Given the description of an element on the screen output the (x, y) to click on. 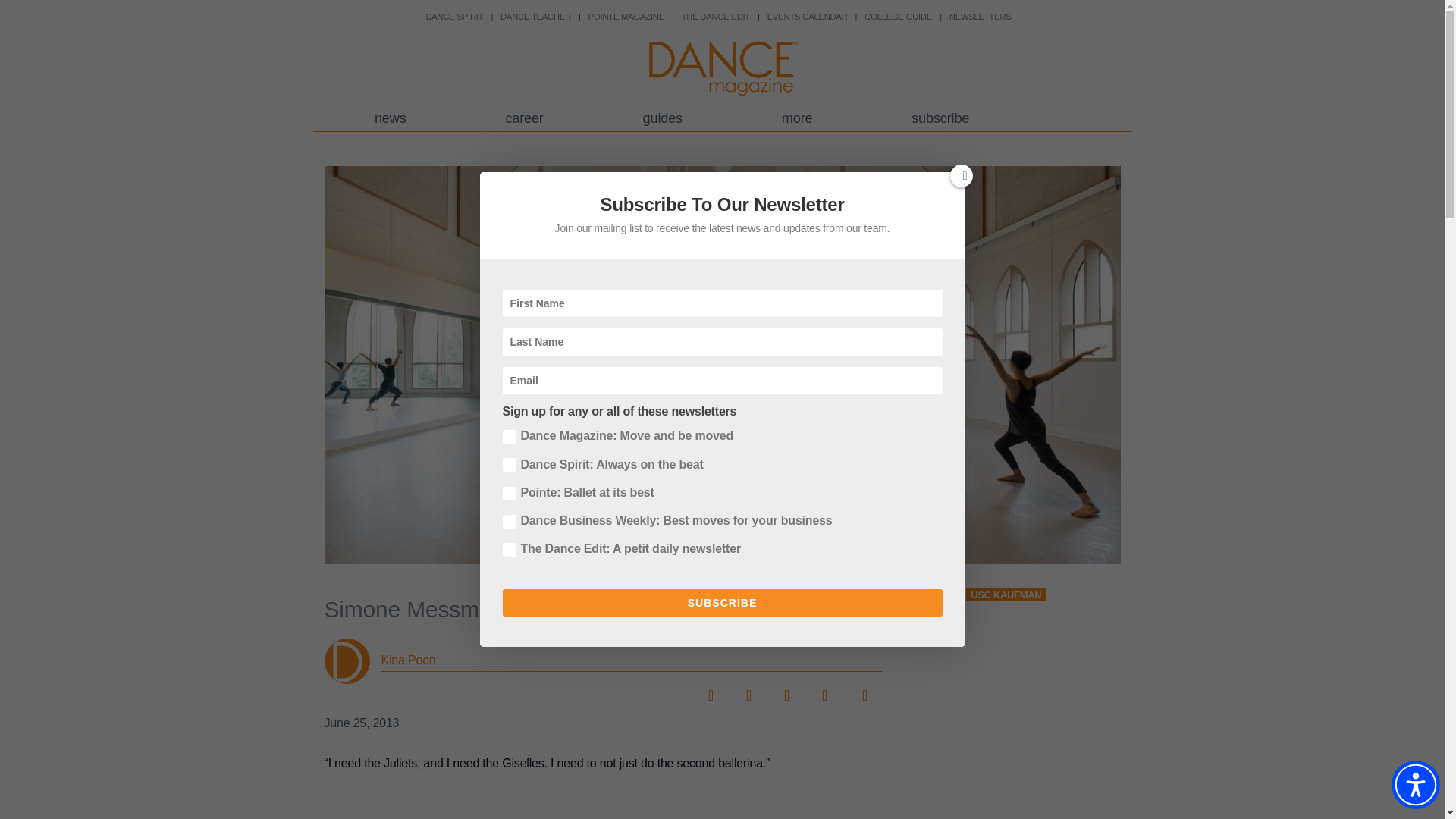
more (797, 118)
Share on Facebook (710, 690)
career (523, 118)
NEWSLETTERS (980, 16)
Share on LinkedIn (786, 690)
COLLEGE GUIDE (897, 16)
subscribe (940, 118)
DANCE SPIRIT (454, 16)
DANCE TEACHER (535, 16)
EVENTS CALENDAR (807, 16)
